Given the description of an element on the screen output the (x, y) to click on. 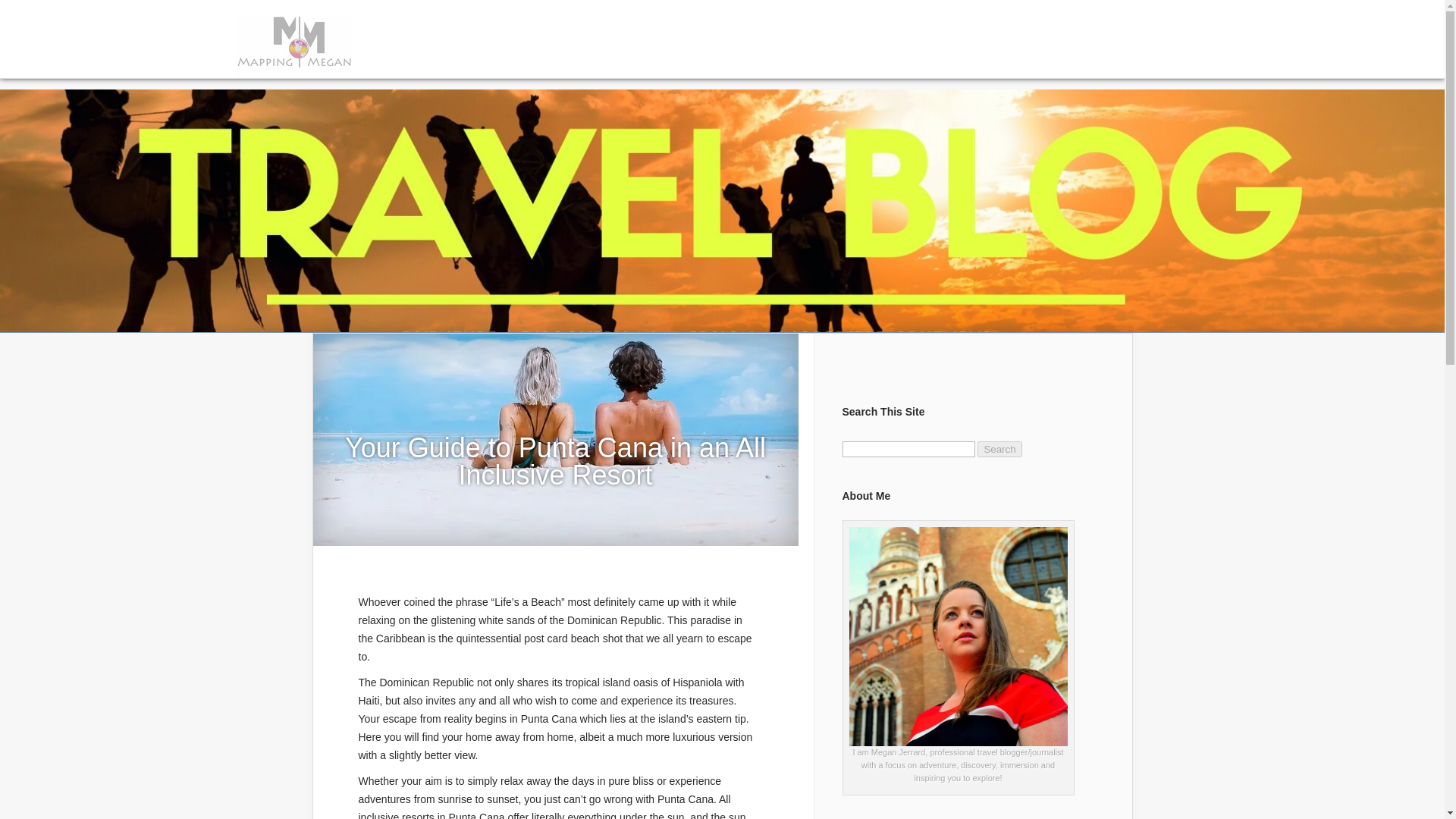
Interests (631, 58)
Tours for Women (775, 58)
Travel Blog (439, 58)
Websites (693, 58)
Destinations (561, 58)
About (499, 58)
Shop (847, 58)
Search (999, 449)
